Given the description of an element on the screen output the (x, y) to click on. 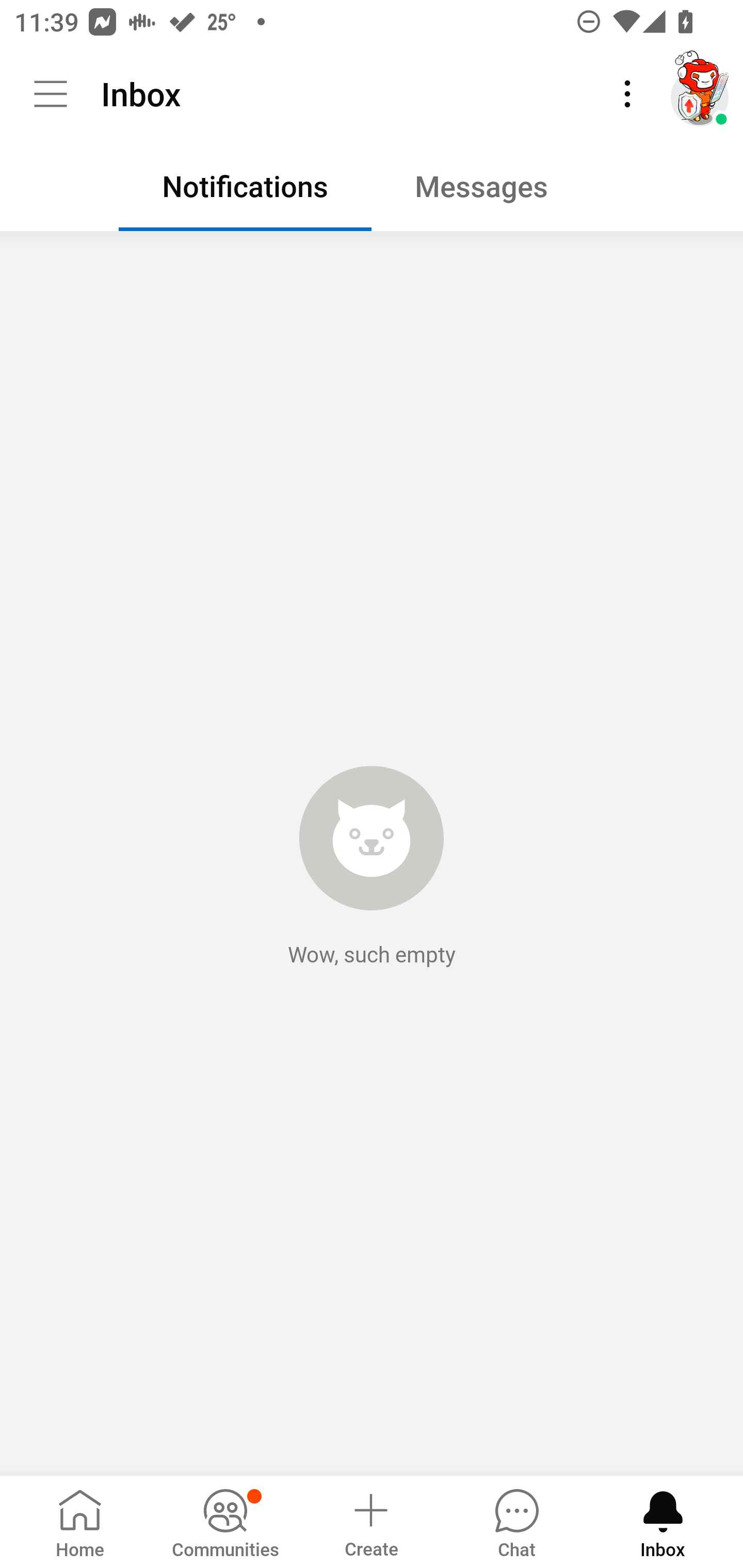
Community menu (50, 93)
More (626, 93)
TestAppium002 account (699, 93)
Messages (497, 191)
Home (80, 1520)
Communities, has notifications Communities (225, 1520)
Create a post Create (370, 1520)
Chat (516, 1520)
Inbox (662, 1520)
